Given the description of an element on the screen output the (x, y) to click on. 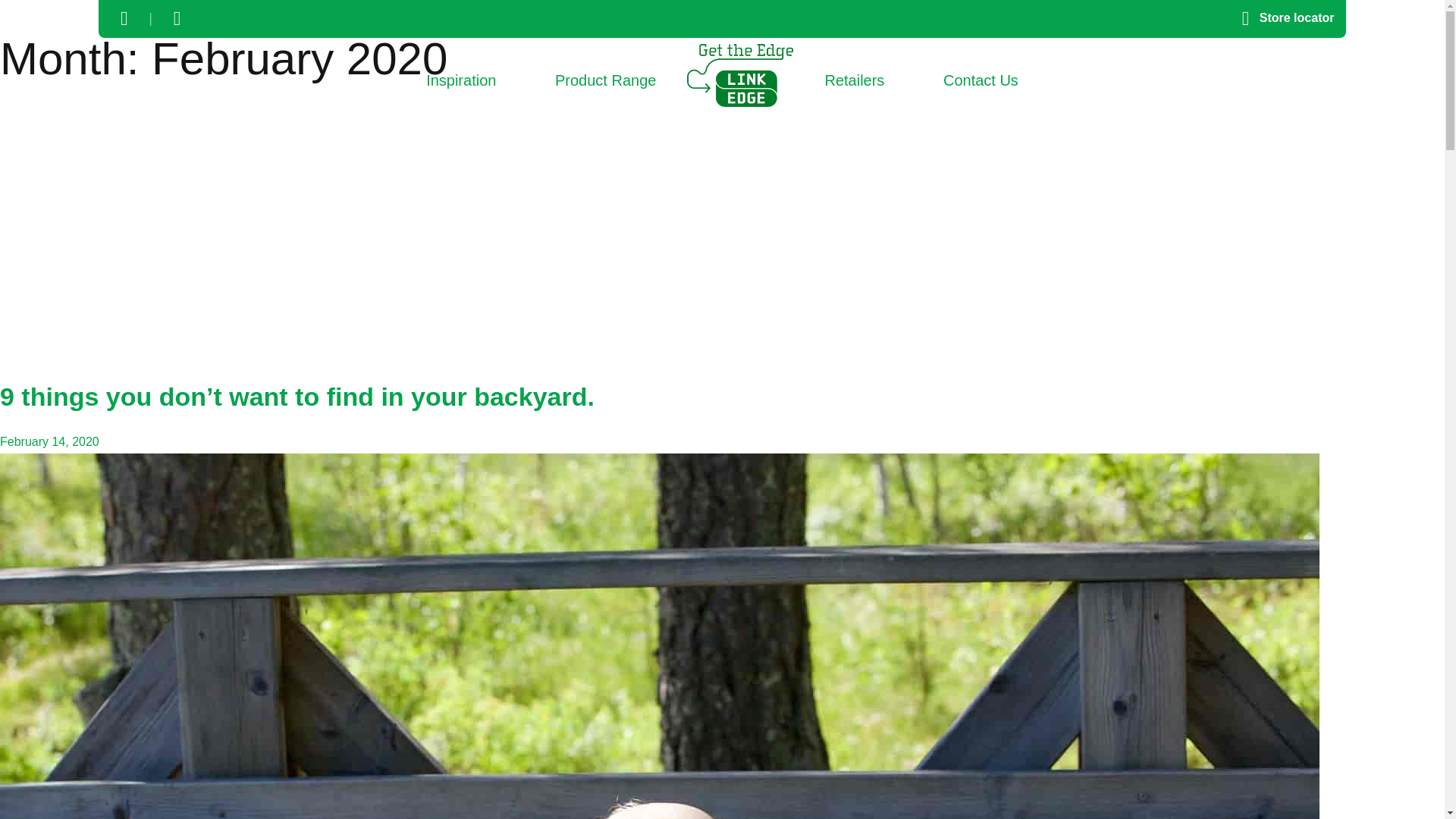
February 14, 2020 (49, 440)
Product Range (605, 81)
Retailers (853, 81)
Home (740, 75)
Inspiration (461, 81)
Store locator (1282, 17)
Contact Us (980, 81)
